Given the description of an element on the screen output the (x, y) to click on. 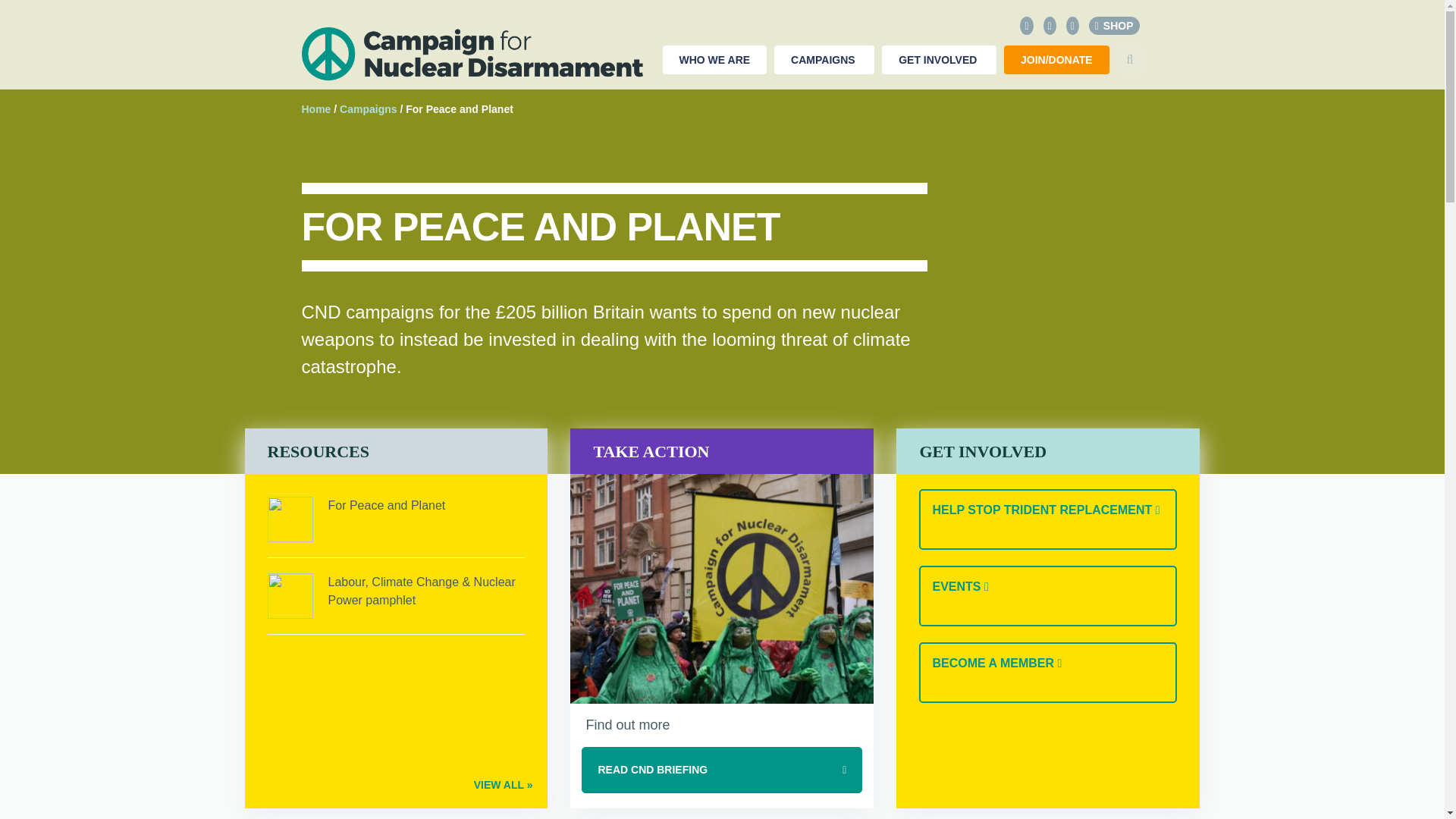
GET INVOLVED (938, 59)
HELP STOP TRIDENT REPLACEMENT (1047, 518)
READ CND BRIEFING (720, 769)
For Peace and Planet (386, 504)
SHOP (1114, 25)
EVENTS (1047, 595)
Campaigns (367, 109)
CAMPAIGNS (824, 59)
Home (316, 109)
WHO WE ARE (714, 59)
